Given the description of an element on the screen output the (x, y) to click on. 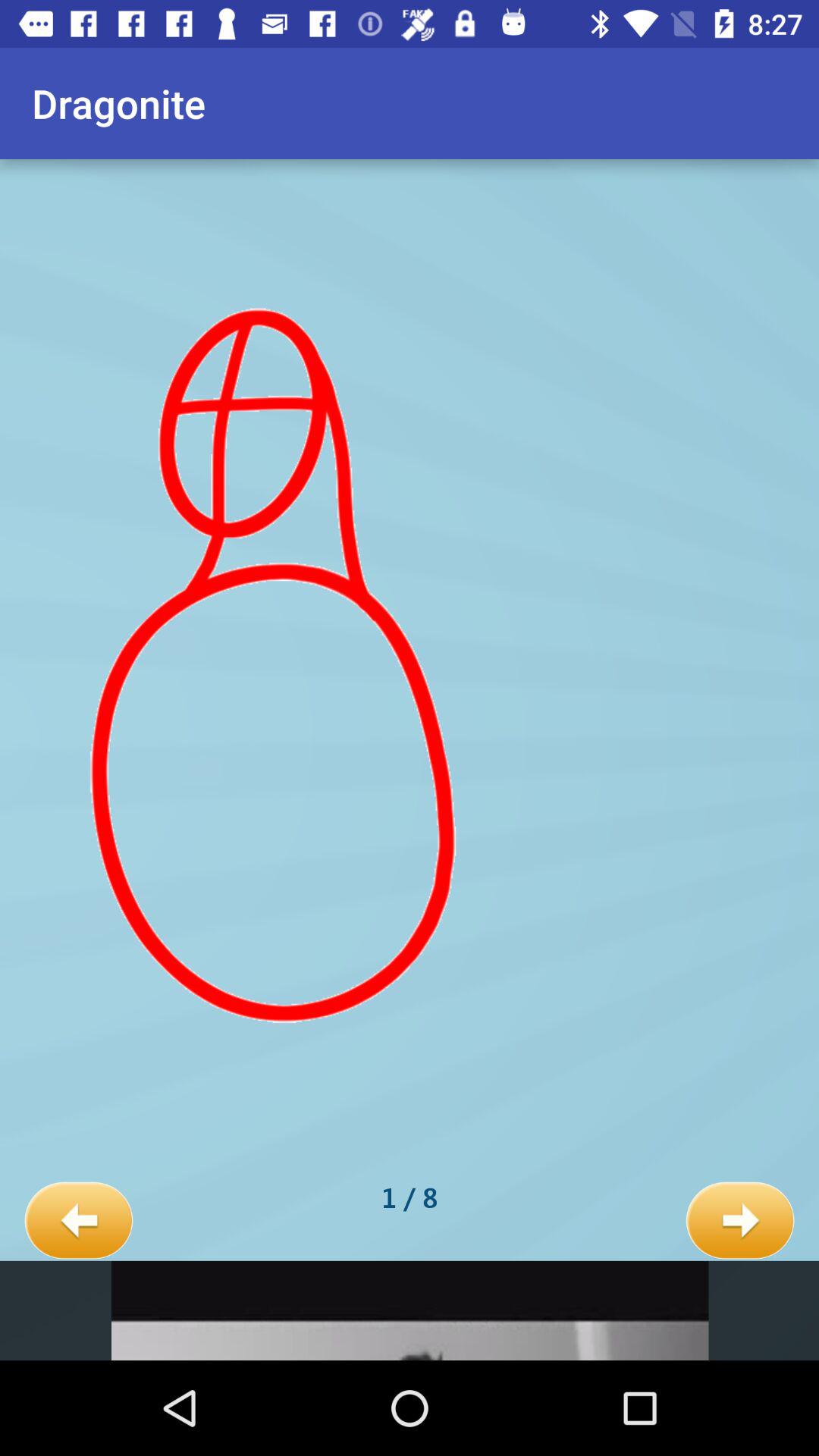
open item to the right of the 1 / 8 item (740, 1220)
